Given the description of an element on the screen output the (x, y) to click on. 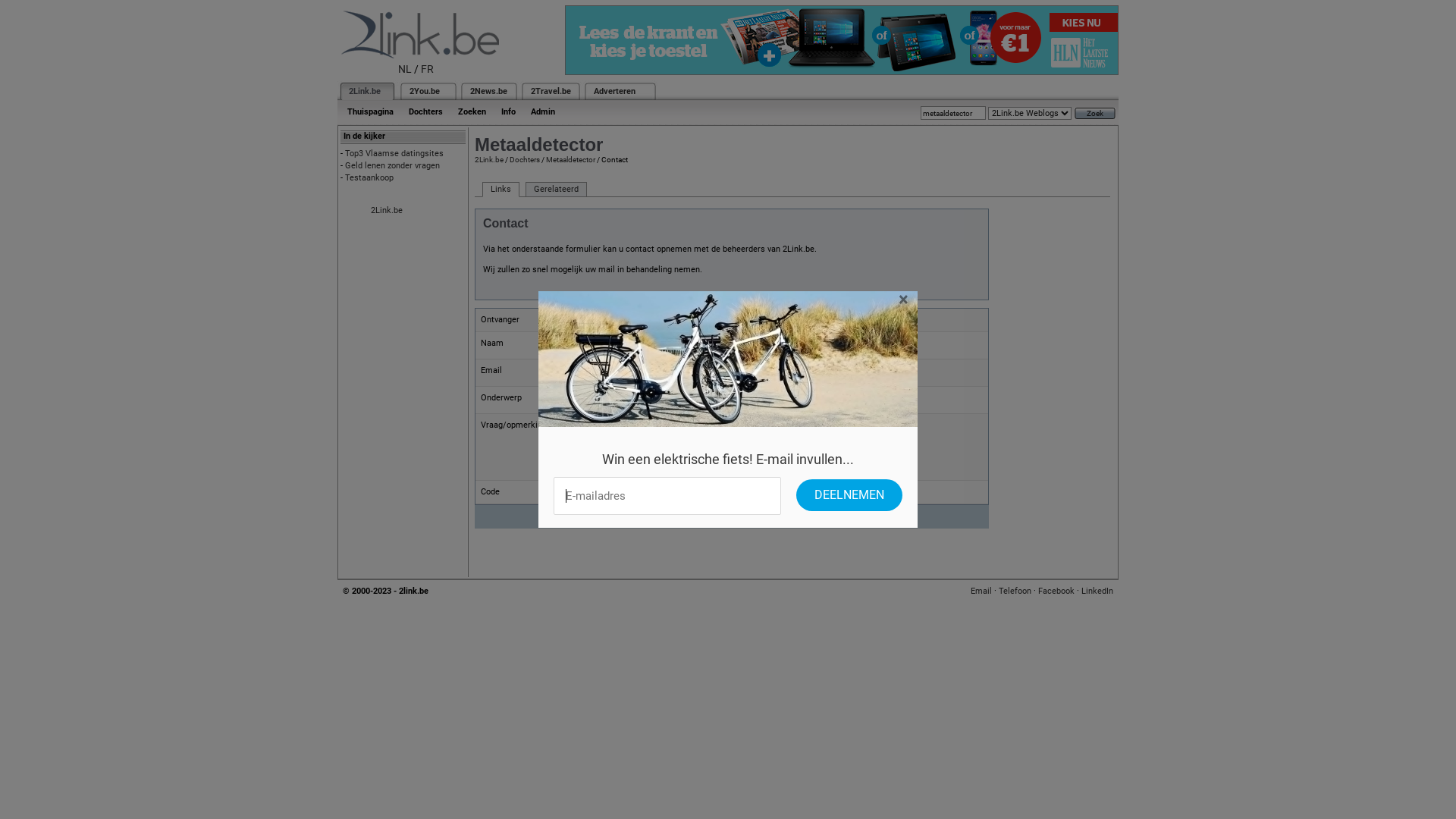
Admin Element type: text (542, 111)
Geld lenen zonder vragen Element type: text (392, 165)
2Link.be Element type: text (488, 159)
Email Element type: text (980, 591)
Links Element type: text (500, 189)
Verzend Element type: text (773, 516)
Thuispagina Element type: text (370, 111)
Testaankoop Element type: text (369, 177)
Zoeken Element type: text (471, 111)
Info Element type: text (508, 111)
2Link.be Element type: text (364, 91)
2Travel.be Element type: text (550, 91)
Dochters Element type: text (425, 111)
Telefoon Element type: text (1014, 591)
2News.be Element type: text (488, 91)
NL Element type: text (404, 68)
2You.be Element type: text (424, 91)
Facebook Element type: text (1056, 591)
LinkedIn Element type: text (1097, 591)
Adverteren Element type: text (614, 91)
Metaaldetector Element type: text (570, 159)
FR Element type: text (426, 68)
2Link.be Element type: text (386, 210)
Zoek Element type: text (1094, 113)
Top3 Vlaamse datingsites Element type: text (394, 153)
Dochters Element type: text (524, 159)
Gerelateerd Element type: text (555, 189)
